Given the description of an element on the screen output the (x, y) to click on. 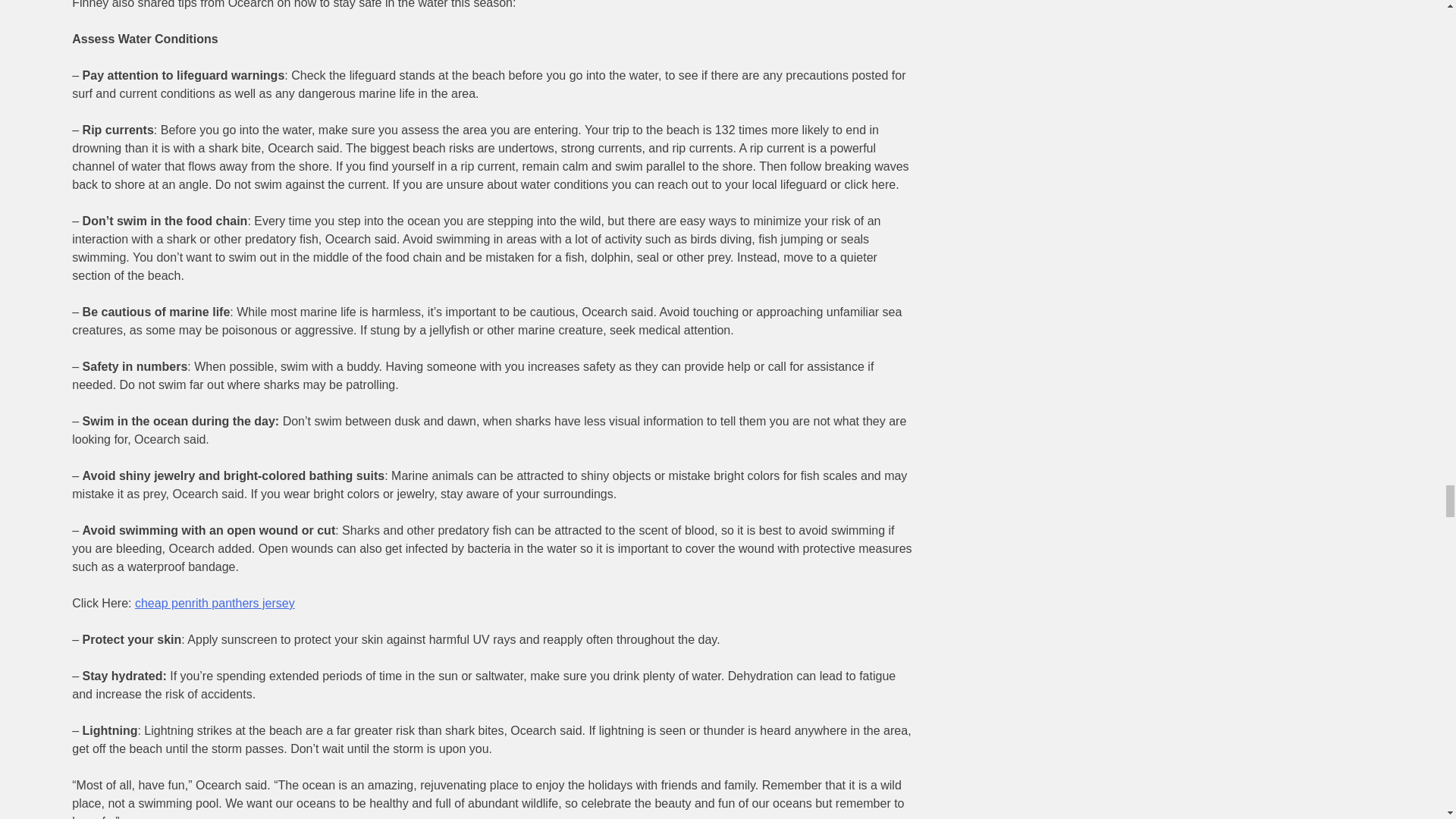
cheap penrith panthers jersey (215, 603)
